Given the description of an element on the screen output the (x, y) to click on. 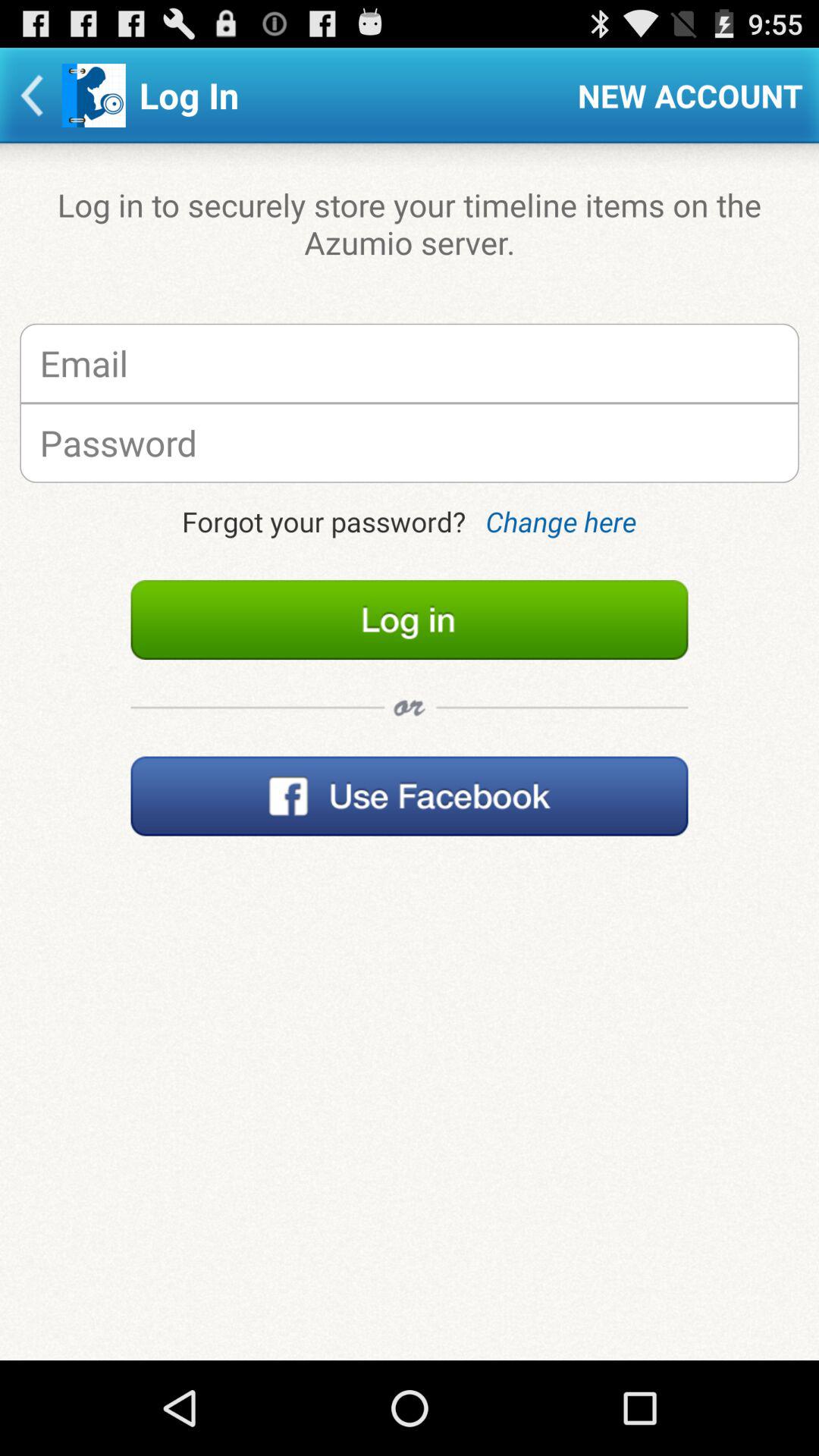
open new account (690, 95)
